Given the description of an element on the screen output the (x, y) to click on. 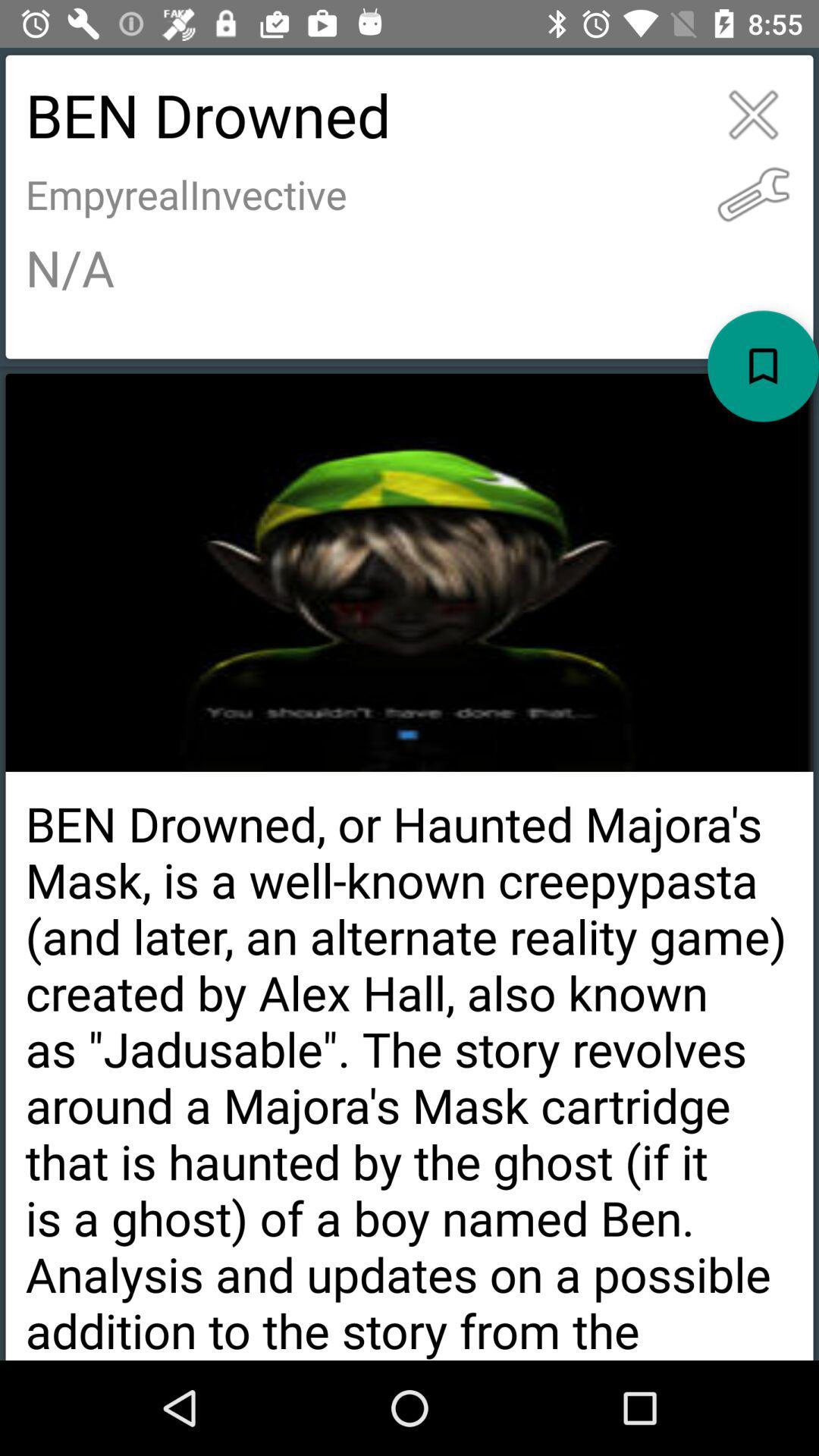
select the item to the right of ben drowned item (753, 114)
